Given the description of an element on the screen output the (x, y) to click on. 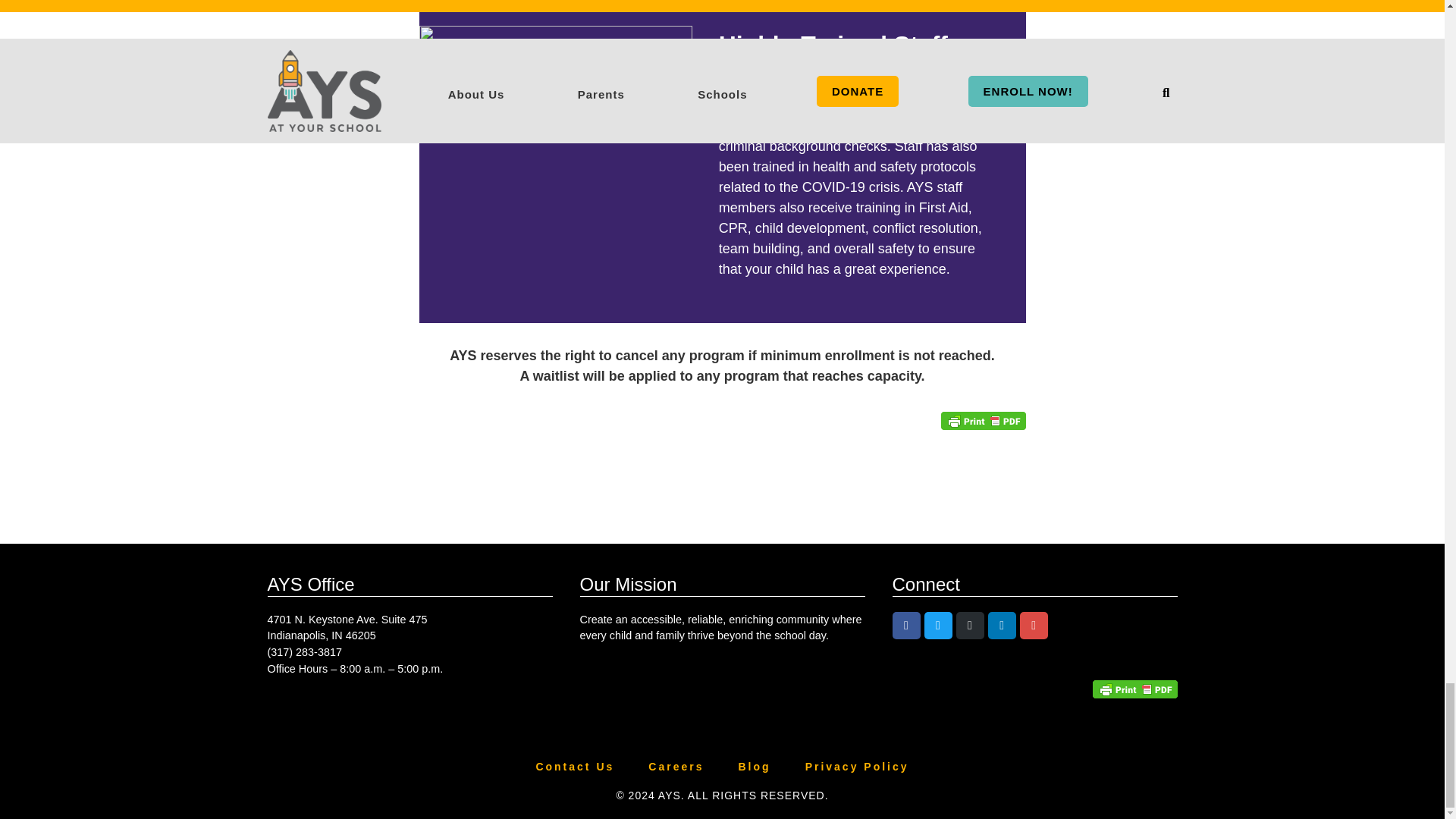
AYS on LinkedIn (1002, 625)
AYS on YouTube (1034, 625)
AYS on Facebook (905, 625)
AYS on Twitter (938, 625)
AYS on Instagram (970, 625)
